Given the description of an element on the screen output the (x, y) to click on. 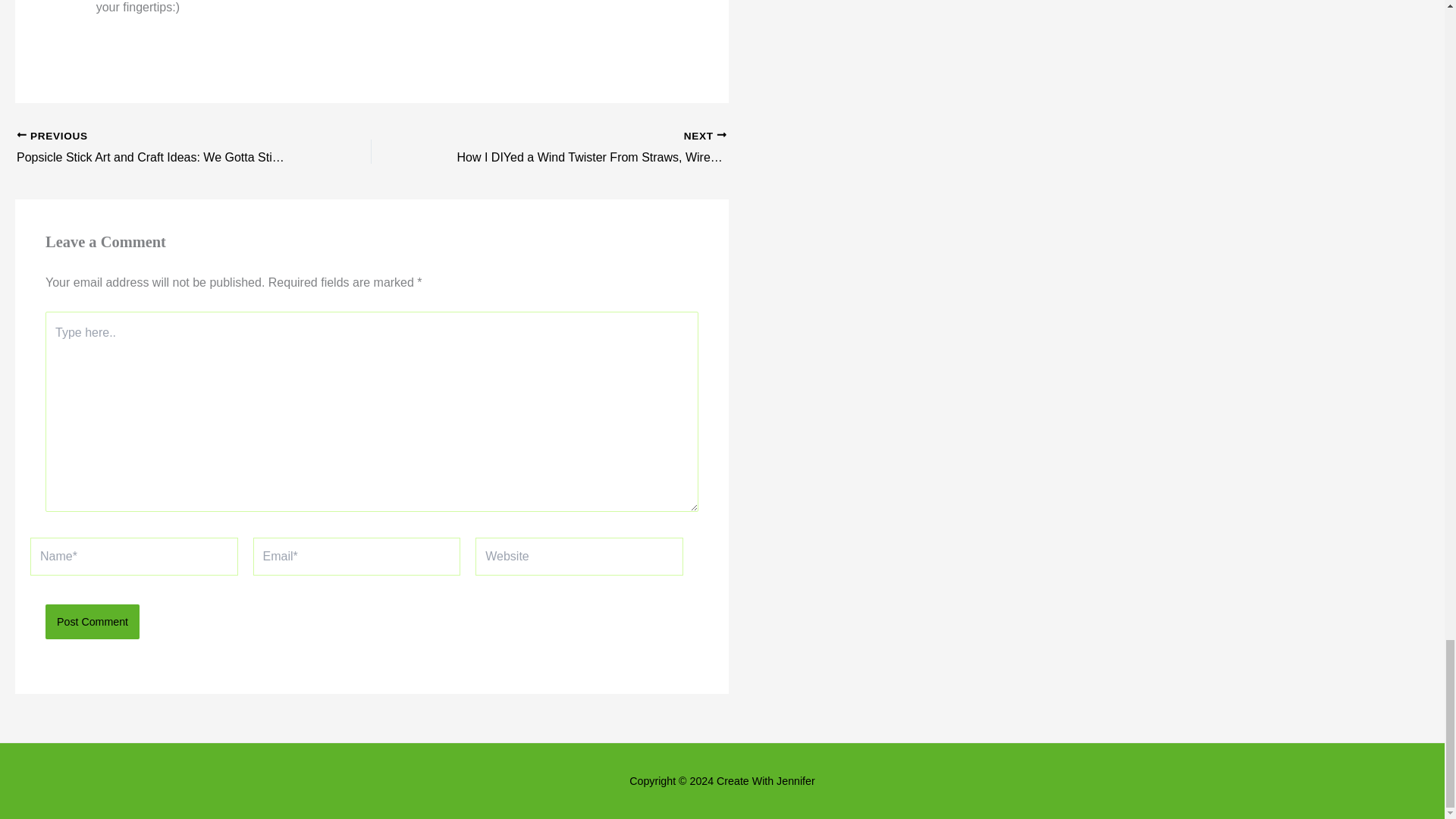
Popsicle Stick Art and Craft Ideas: We Gotta Stick Together (158, 148)
Post Comment (92, 621)
